Given the description of an element on the screen output the (x, y) to click on. 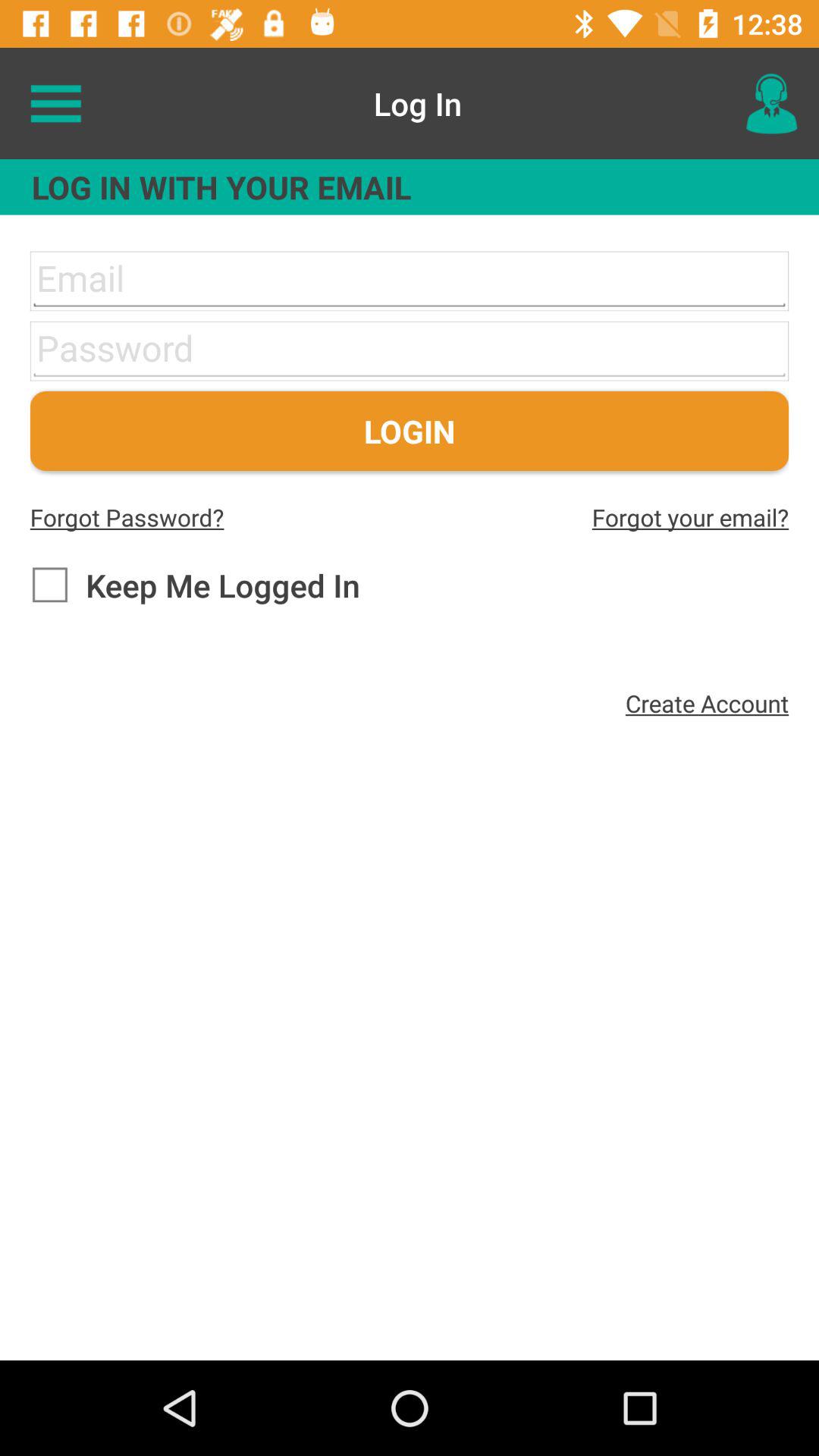
scroll to keep me logged (195, 584)
